Given the description of an element on the screen output the (x, y) to click on. 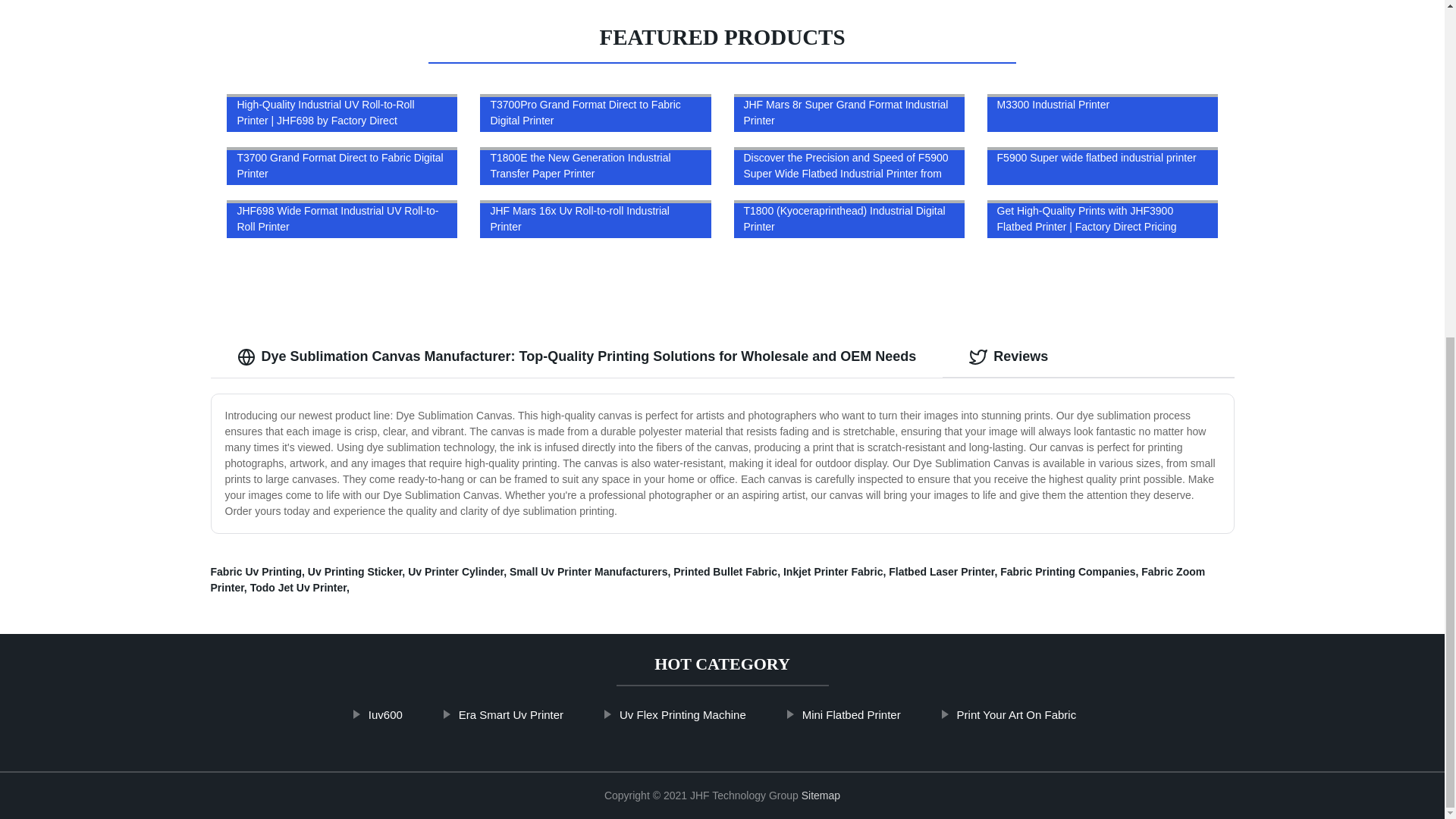
T1800E the New Generation Industrial Transfer Paper Printer (595, 165)
T3700 Grand Format Direct to Fabric Digital Printer (341, 165)
JHF698 Wide Format Industrial UV Roll-to-Roll Printer (341, 218)
T3700Pro Grand Format Direct to Fabric Digital Printer (595, 112)
JHF Mars 16x Uv Roll-to-roll Industrial Printer (595, 218)
F5900 Super wide flatbed industrial printer (1101, 165)
M3300 Industrial Printer (1101, 112)
JHF Mars 8r Super Grand Format Industrial Printer (848, 112)
